Given the description of an element on the screen output the (x, y) to click on. 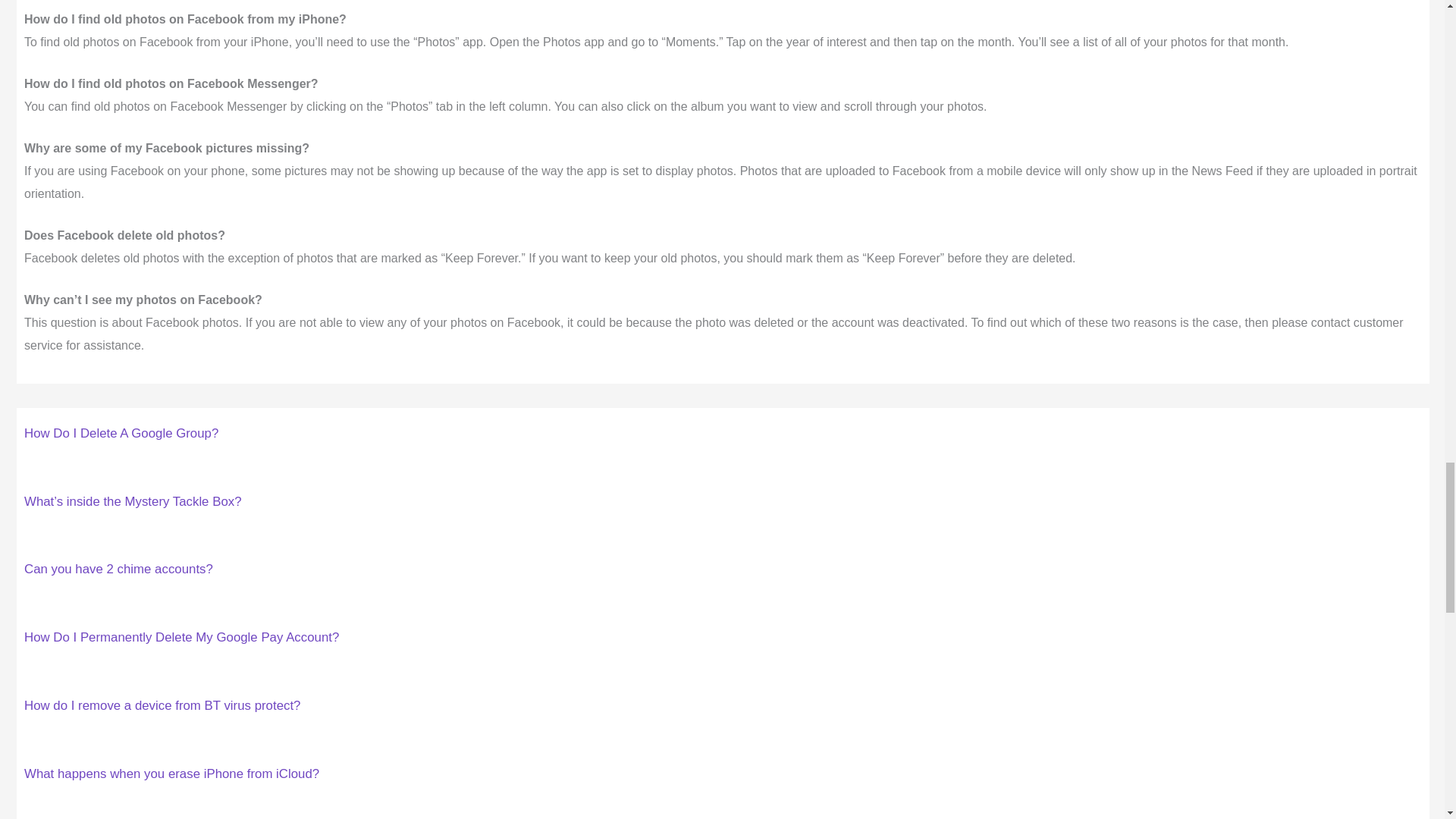
What happens when you erase iPhone from iCloud? (171, 773)
How Do I Permanently Delete My Google Pay Account? (181, 636)
How do I remove a device from BT virus protect? (161, 705)
How Do I Delete A Google Group? (121, 432)
Can you have 2 chime accounts? (118, 568)
